Given the description of an element on the screen output the (x, y) to click on. 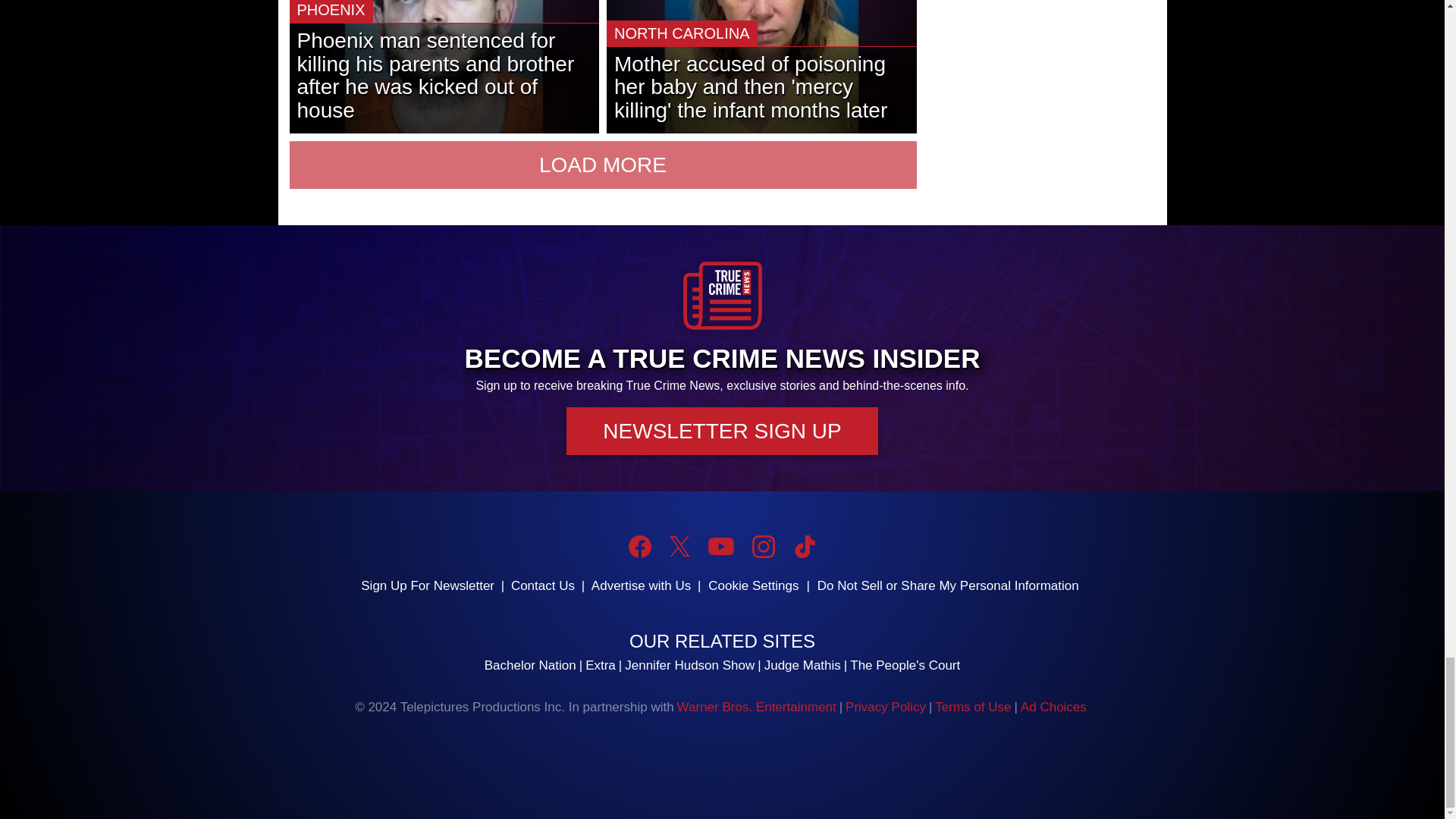
TikTok (804, 546)
Twitter (679, 546)
YouTube (720, 546)
Instagram (763, 546)
Facebook (639, 546)
